Given the description of an element on the screen output the (x, y) to click on. 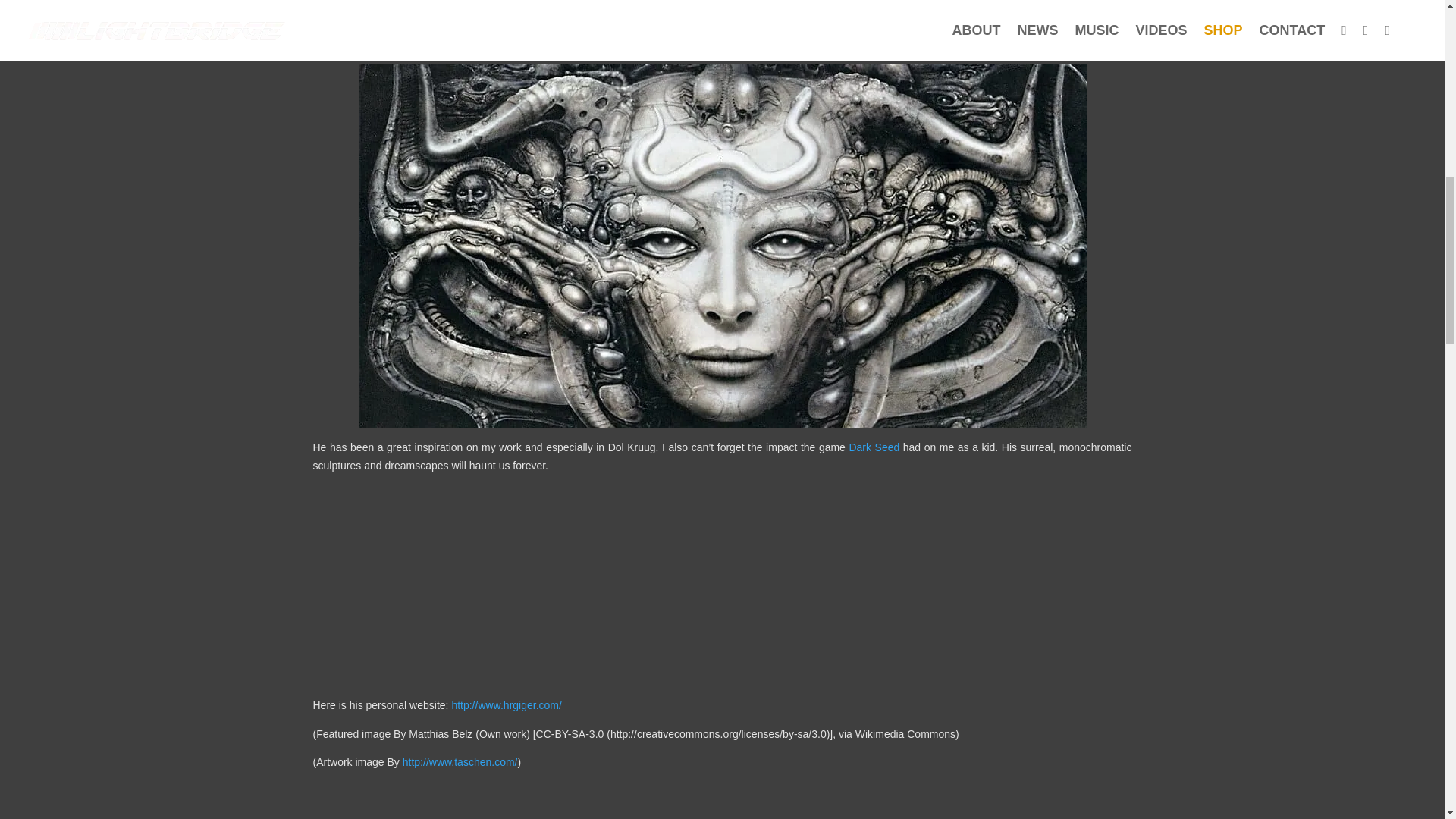
Dark Seed (873, 447)
